Given the description of an element on the screen output the (x, y) to click on. 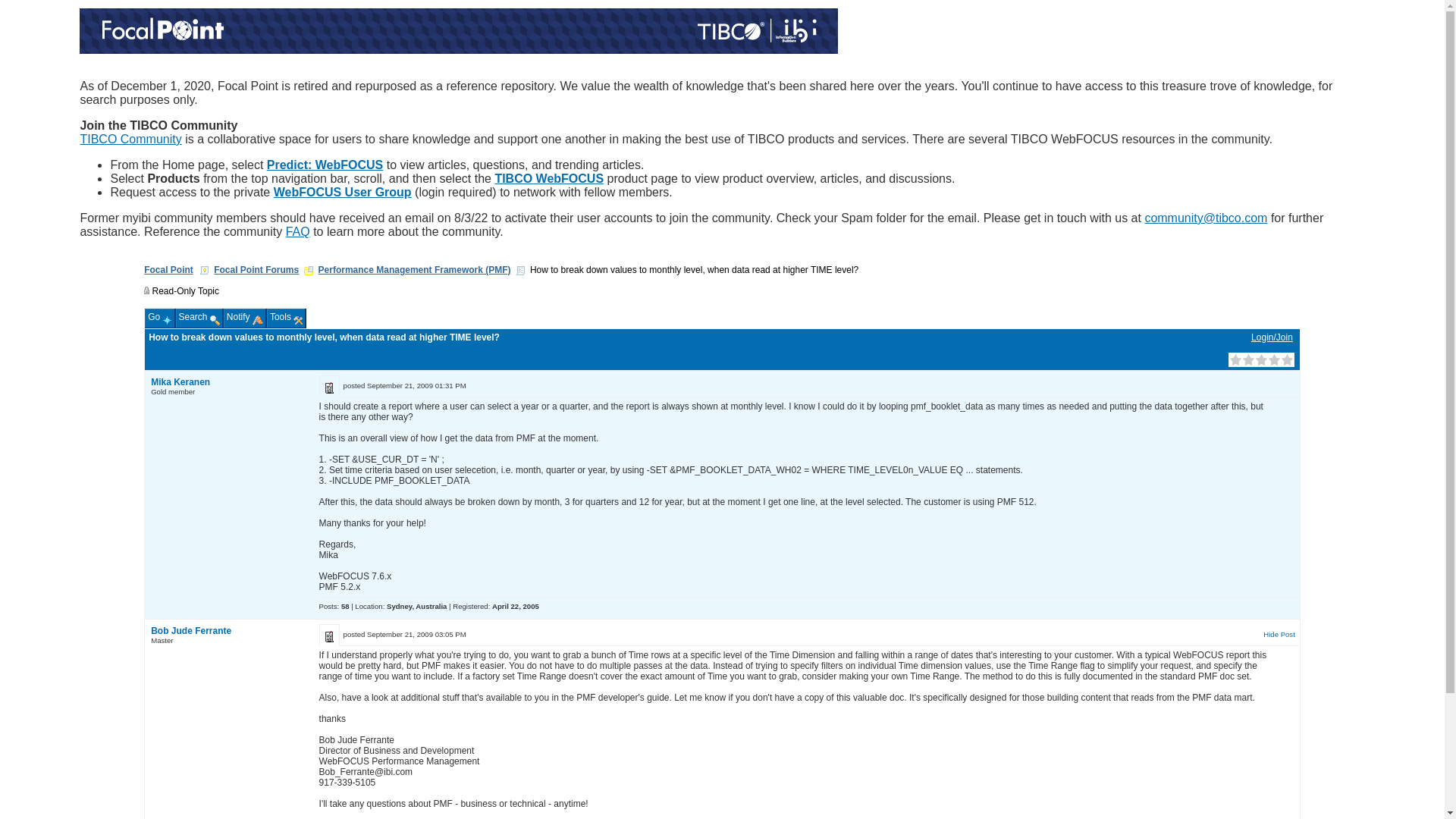
GO (307, 172)
Focal Point (168, 269)
Focal Point Forums (256, 269)
WebFOCUS User Group (342, 192)
Predict: WebFOCUS (325, 164)
Hop To Forum Categories (308, 270)
TIBCO WebFOCUS (549, 178)
FAQ (297, 231)
TIBCO Community (130, 138)
